Given the description of an element on the screen output the (x, y) to click on. 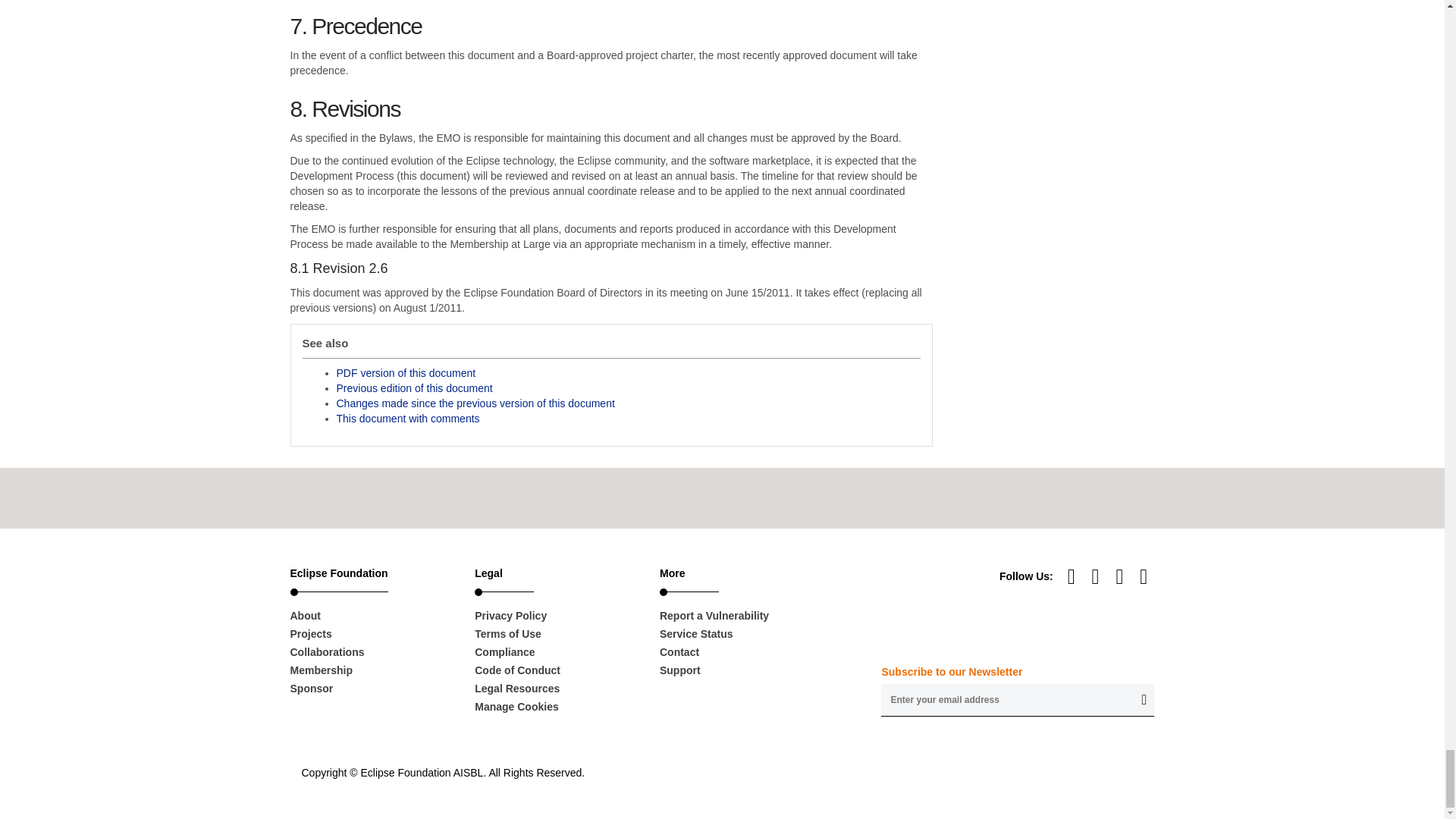
Facebook (1121, 576)
YouTube Channel (1072, 576)
LinkedIn (1096, 576)
Twitter (1143, 576)
